Given the description of an element on the screen output the (x, y) to click on. 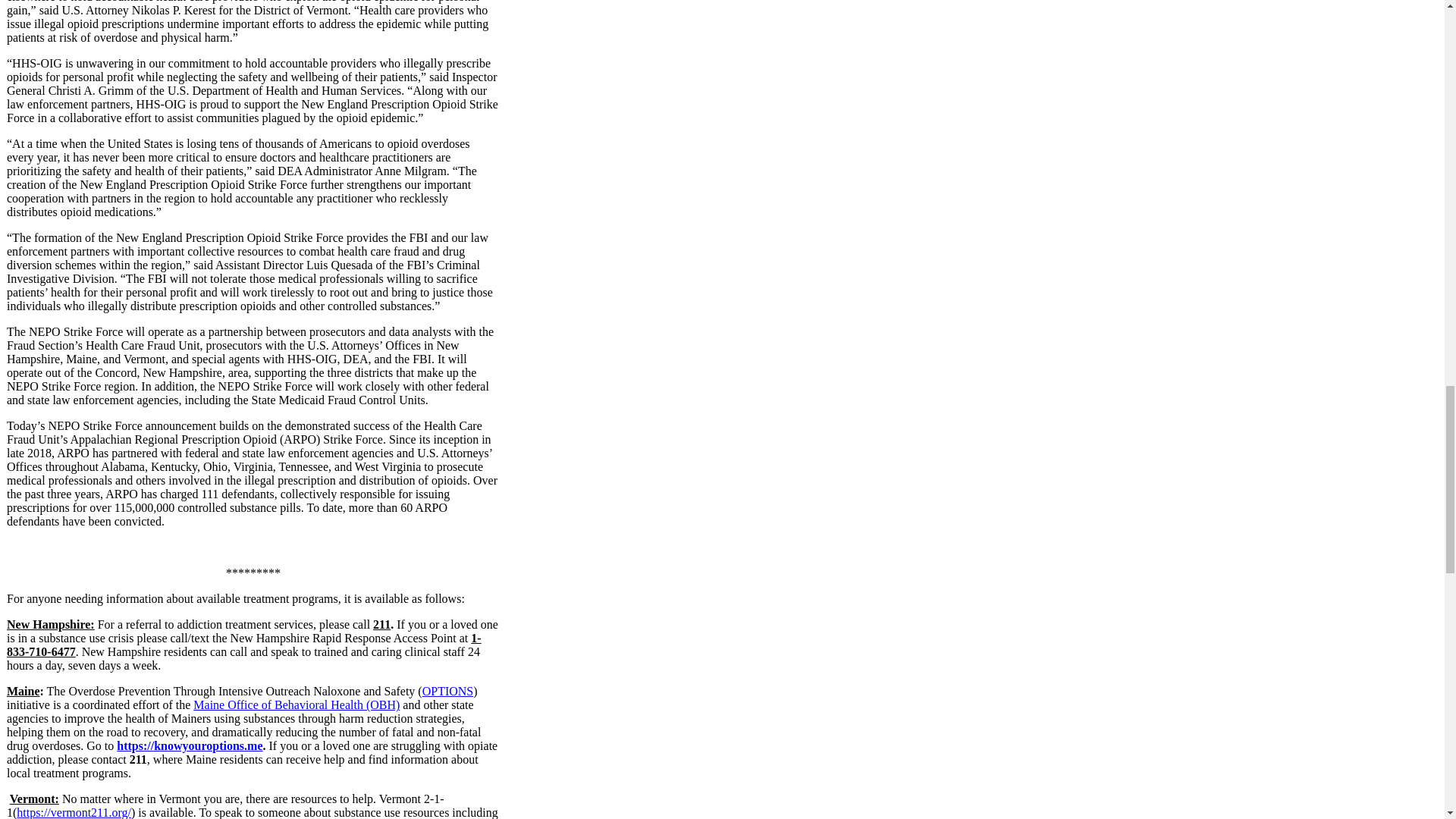
OPTIONS (448, 690)
